Given the description of an element on the screen output the (x, y) to click on. 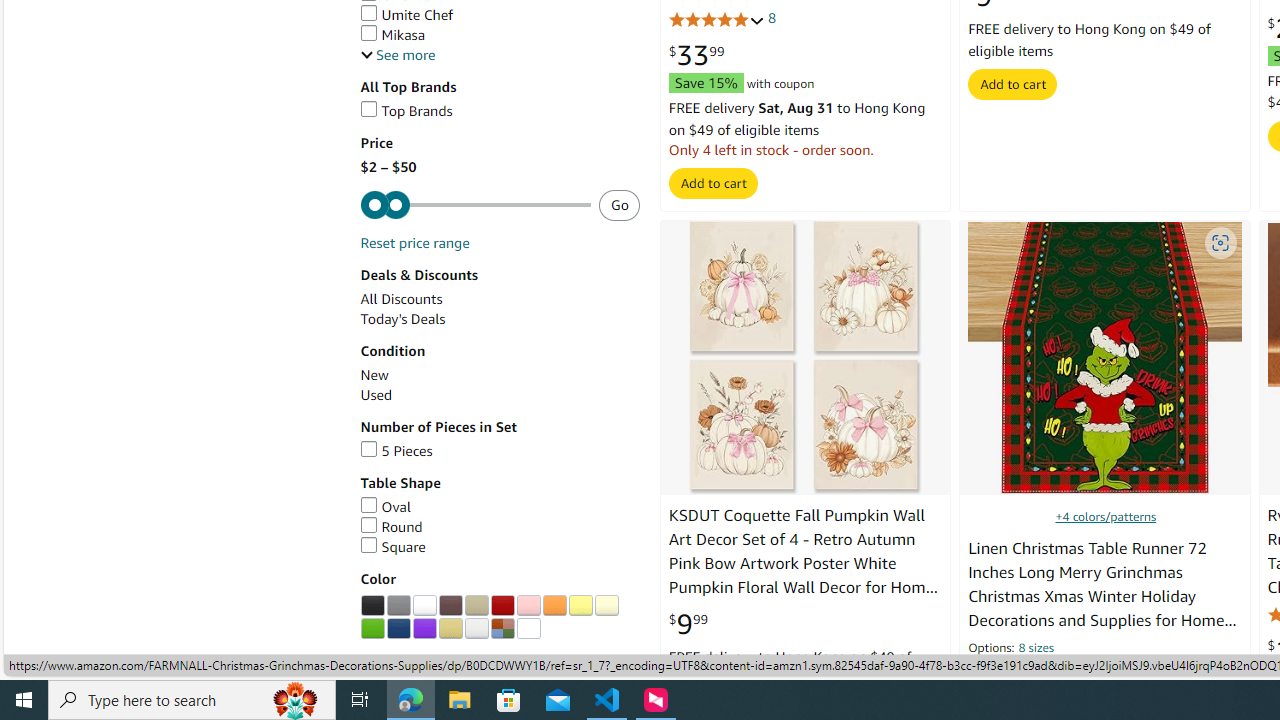
Red (502, 605)
Square (392, 547)
AutomationID: p_n_feature_twenty_browse-bin/3254108011 (372, 628)
AutomationID: p_n_feature_twenty_browse-bin/3254111011 (450, 628)
$9.99 (688, 624)
Mikasa (392, 34)
Reset price range (414, 243)
New (499, 375)
Mikasa (499, 35)
AutomationID: p_n_feature_twenty_browse-bin/3254107011 (606, 605)
AutomationID: p_n_feature_twenty_browse-bin/3254106011 (580, 605)
Green (372, 628)
Gold (450, 628)
$33.99 (696, 56)
5 Pieces (499, 451)
